Given the description of an element on the screen output the (x, y) to click on. 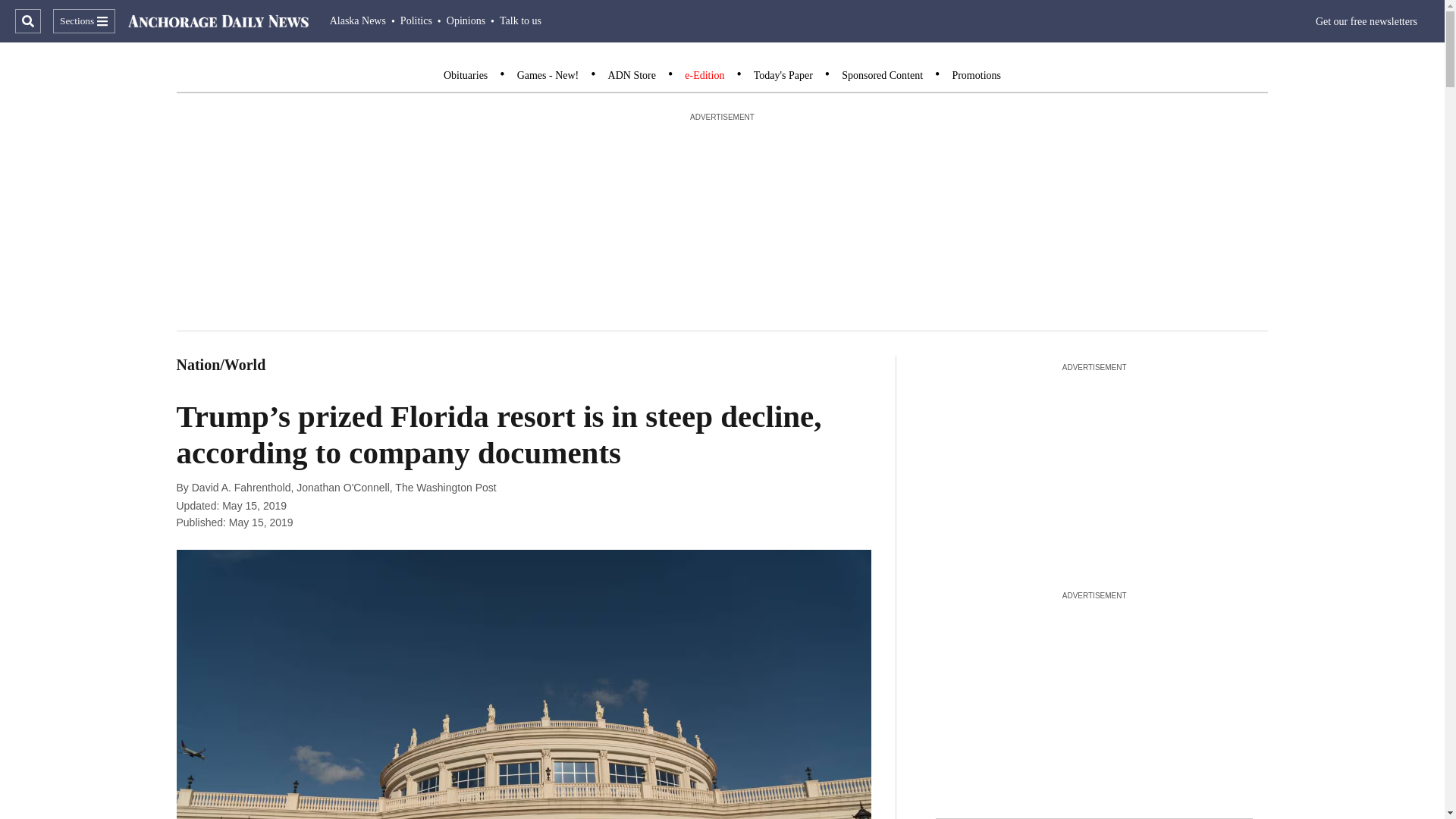
Sections (83, 21)
Alaska News (357, 20)
Get our free newsletters (1366, 21)
Politics (416, 20)
ADN Logo (218, 20)
Opinions (465, 20)
